Given the description of an element on the screen output the (x, y) to click on. 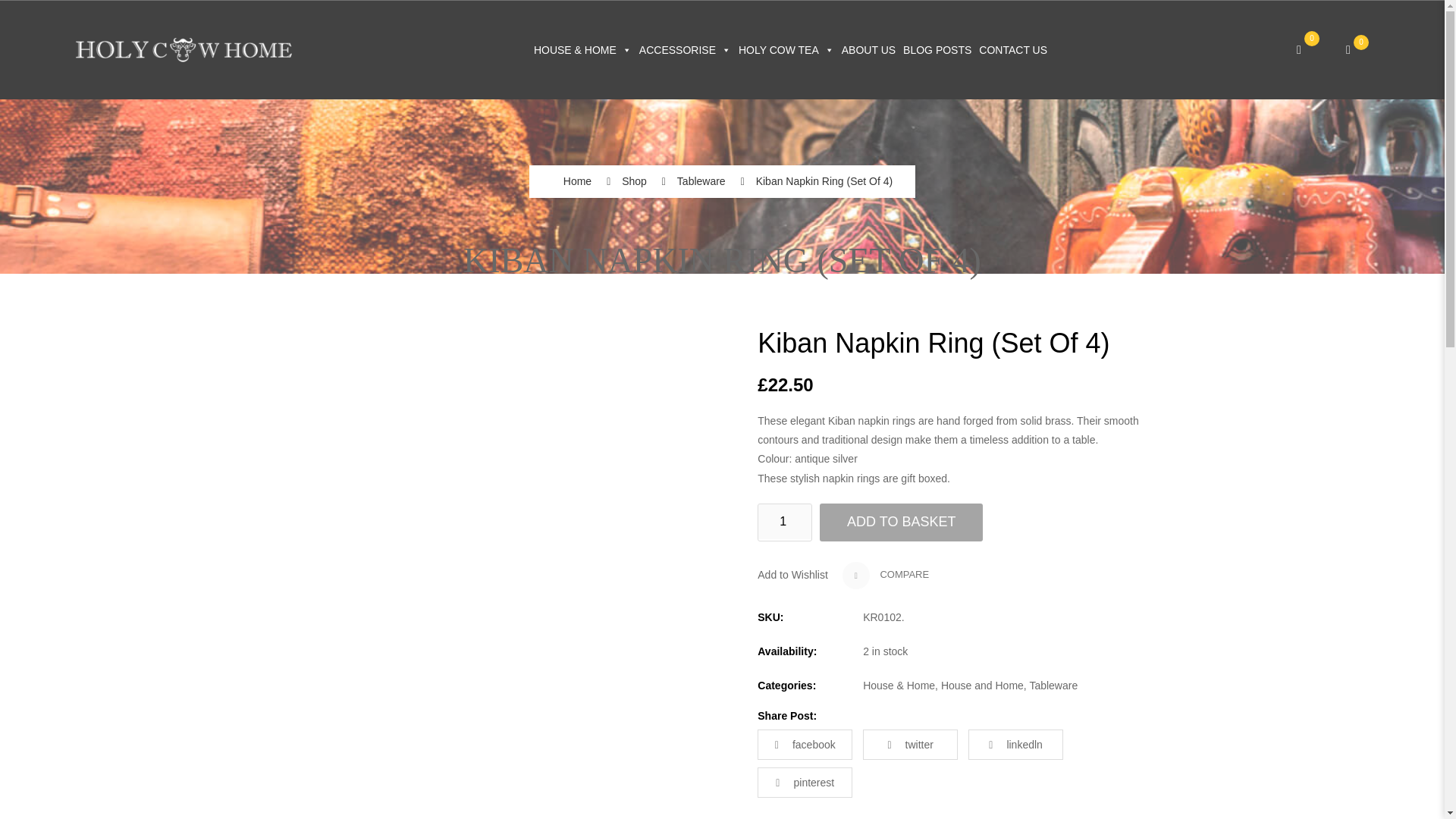
Qty (784, 521)
Wishlist (1356, 50)
1 (784, 521)
Compare (885, 574)
